Given the description of an element on the screen output the (x, y) to click on. 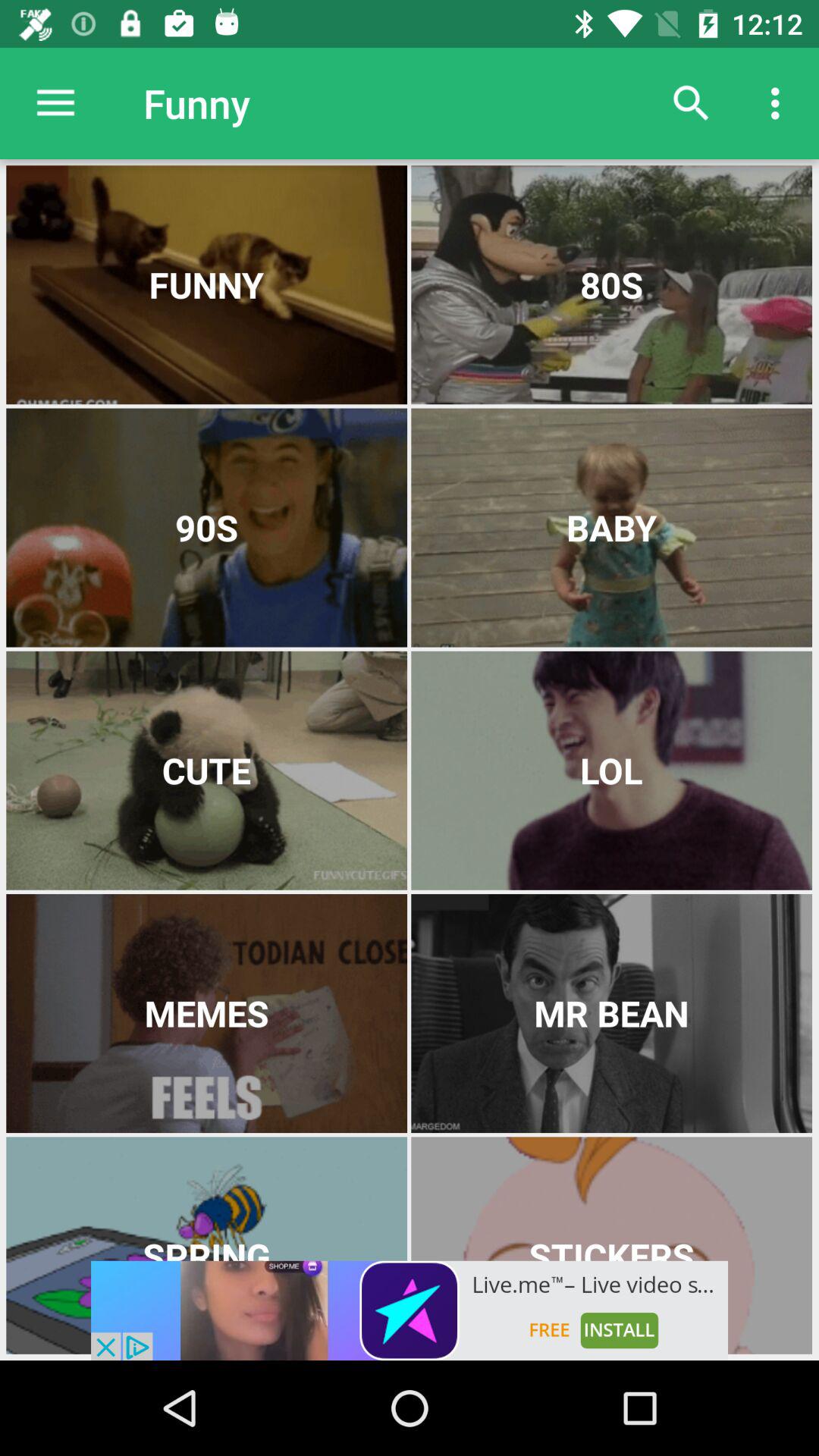
advertisement (409, 1310)
